Given the description of an element on the screen output the (x, y) to click on. 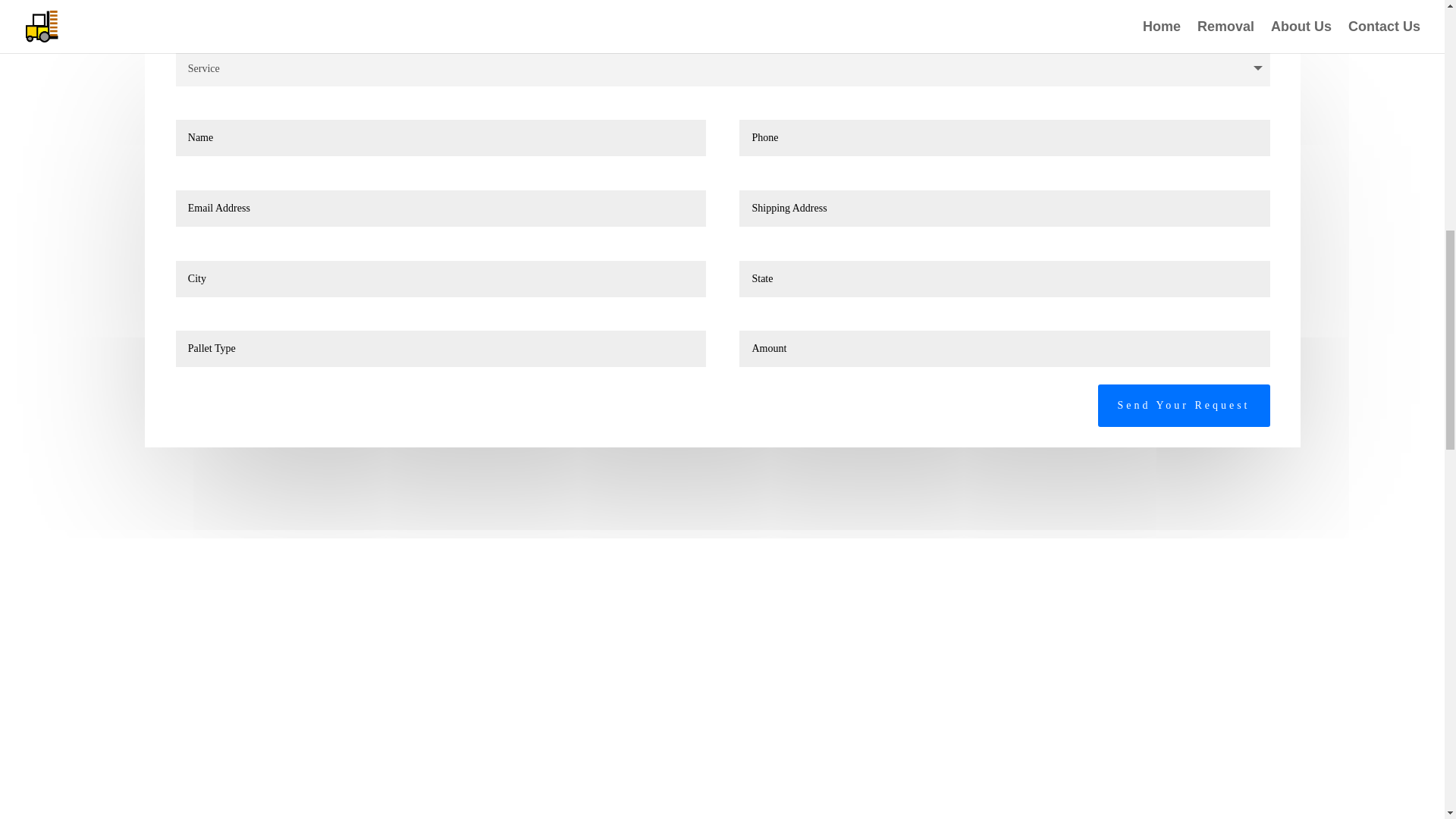
United States (348, 2)
Send Your Request (1183, 405)
